Given the description of an element on the screen output the (x, y) to click on. 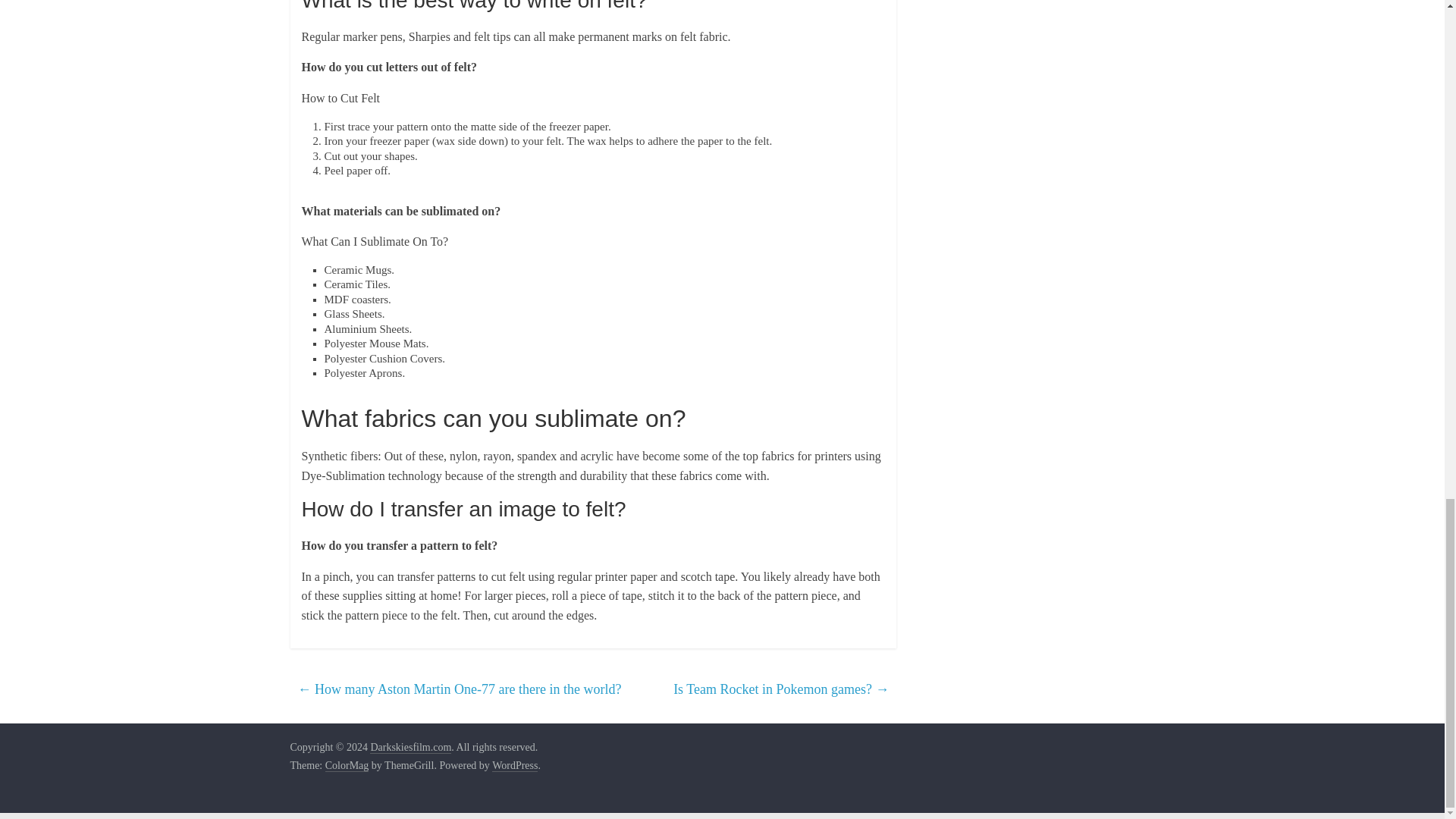
WordPress (514, 766)
Darkskiesfilm.com (410, 747)
Darkskiesfilm.com (410, 747)
WordPress (514, 766)
ColorMag (346, 766)
ColorMag (346, 766)
